Given the description of an element on the screen output the (x, y) to click on. 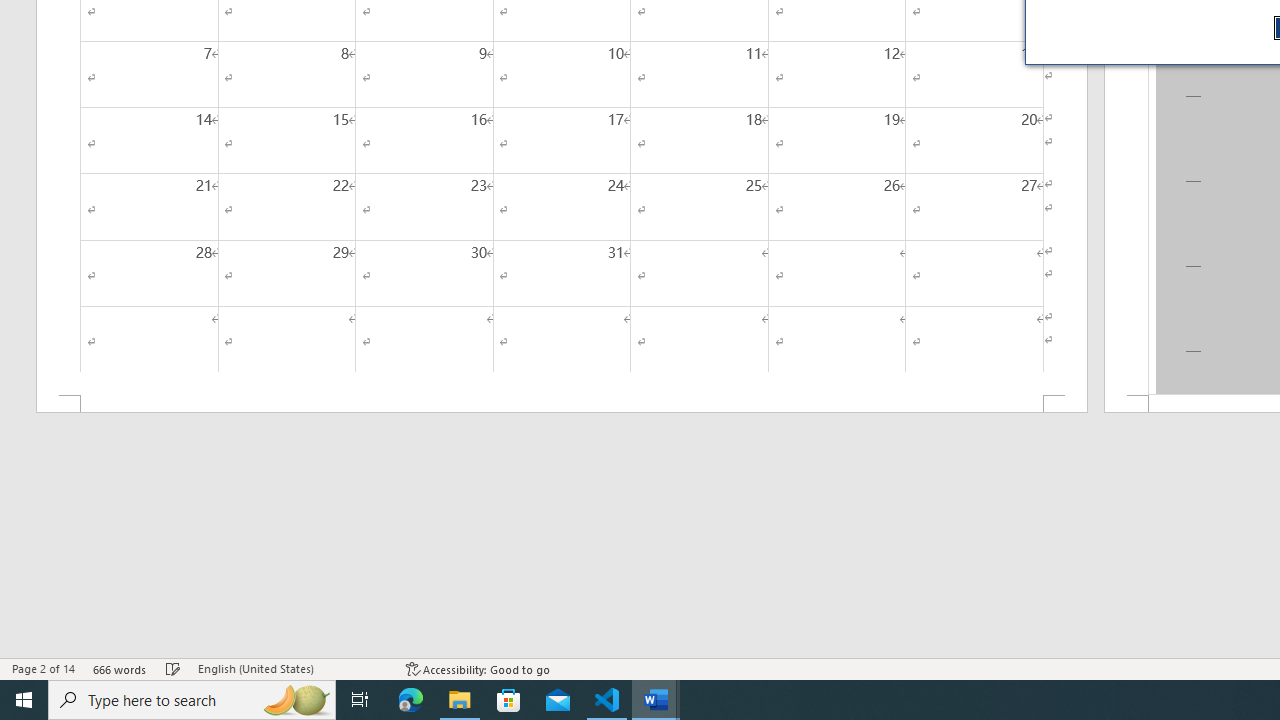
Task View (359, 699)
